Given the description of an element on the screen output the (x, y) to click on. 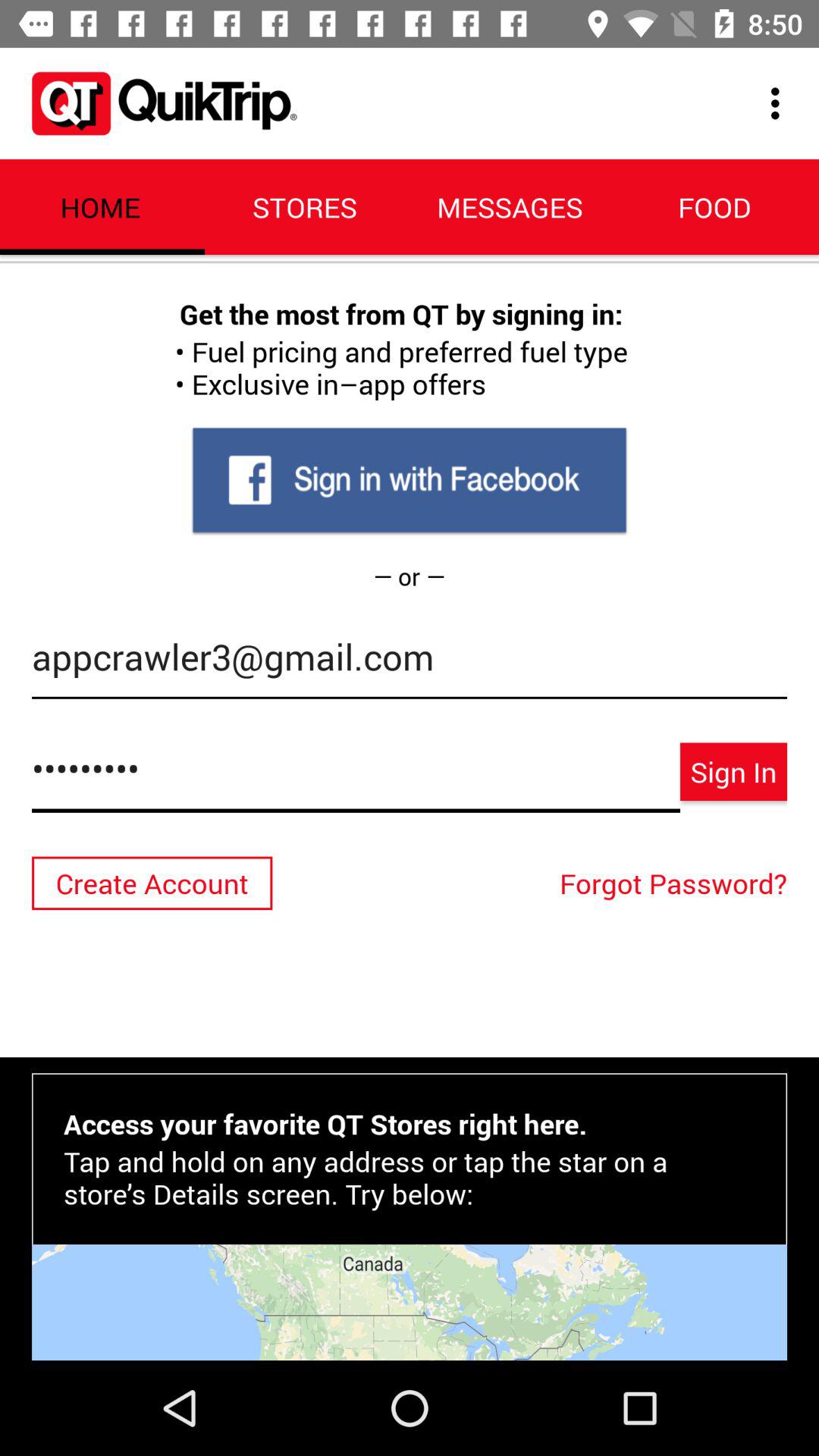
turn off forgot password? icon (677, 883)
